Given the description of an element on the screen output the (x, y) to click on. 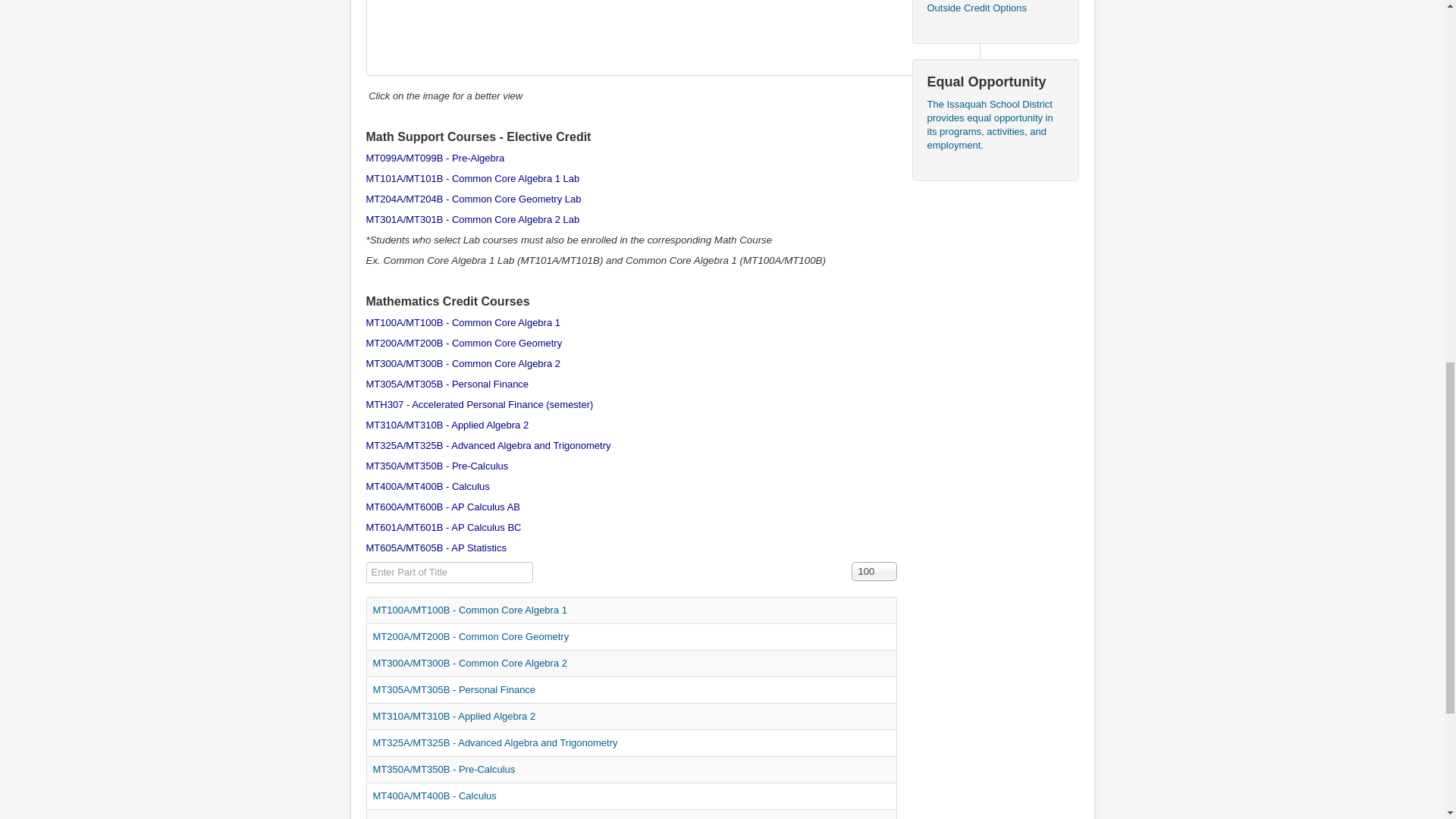
Enter all or part of the title to search for. (448, 572)
100 (873, 570)
2022 23 Math Flow Chart PNG 2.3.22 (672, 38)
MTH307 - Accelerated Personal Finance (454, 404)
